Given the description of an element on the screen output the (x, y) to click on. 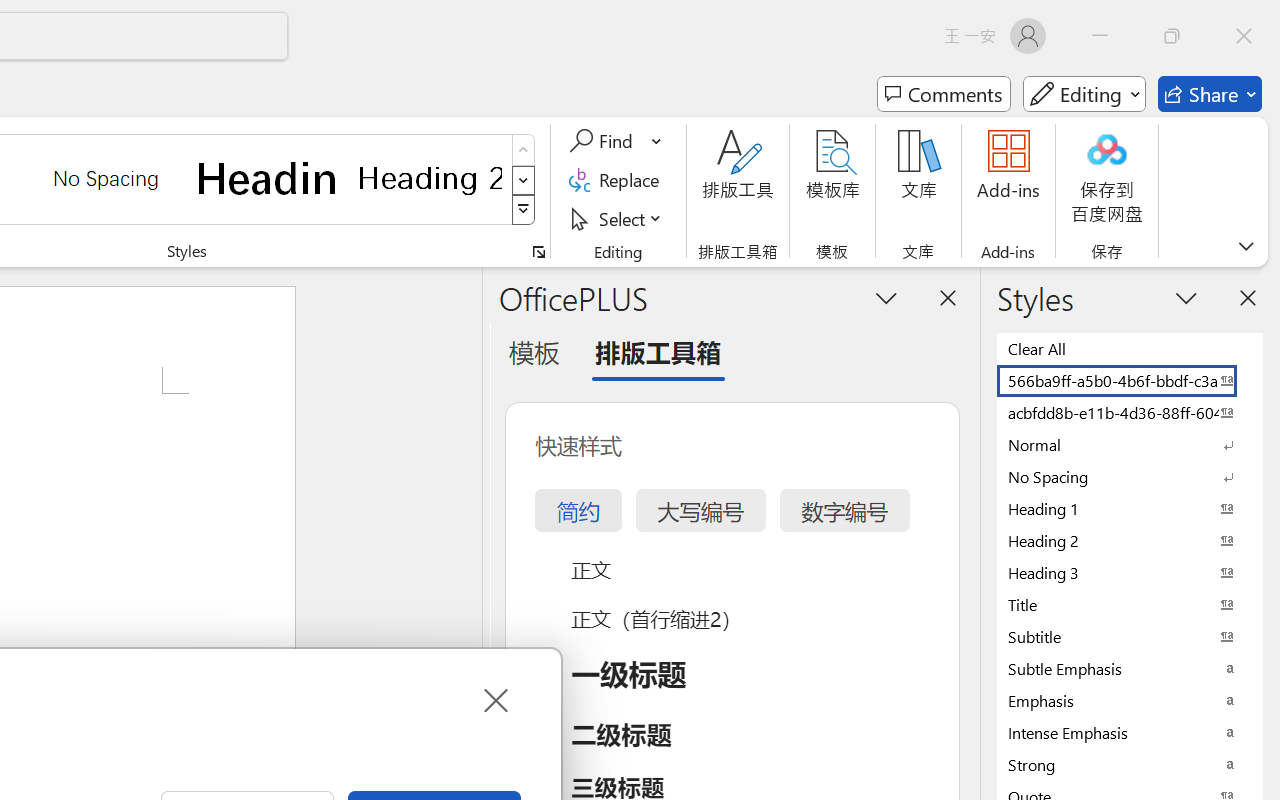
Subtle Emphasis (1130, 668)
Class: NetUIImage (523, 210)
Select (618, 218)
Emphasis (1130, 700)
Styles (523, 209)
Strong (1130, 764)
Comments (943, 94)
Subtitle (1130, 636)
